Given the description of an element on the screen output the (x, y) to click on. 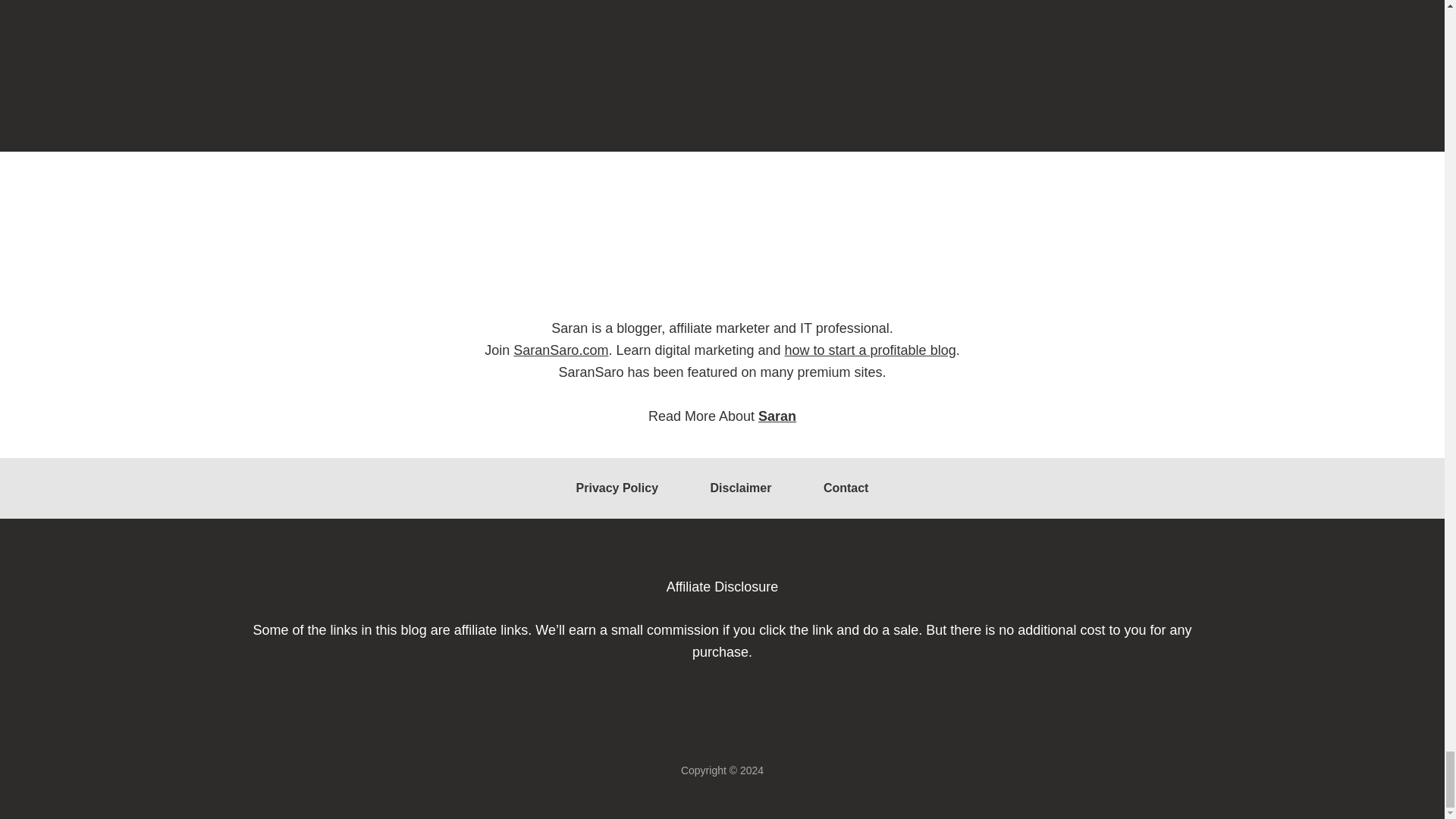
how to start a profitable blog (870, 350)
Post Comment (359, 20)
SaranSaro.com (560, 350)
Post Comment (359, 20)
